Given the description of an element on the screen output the (x, y) to click on. 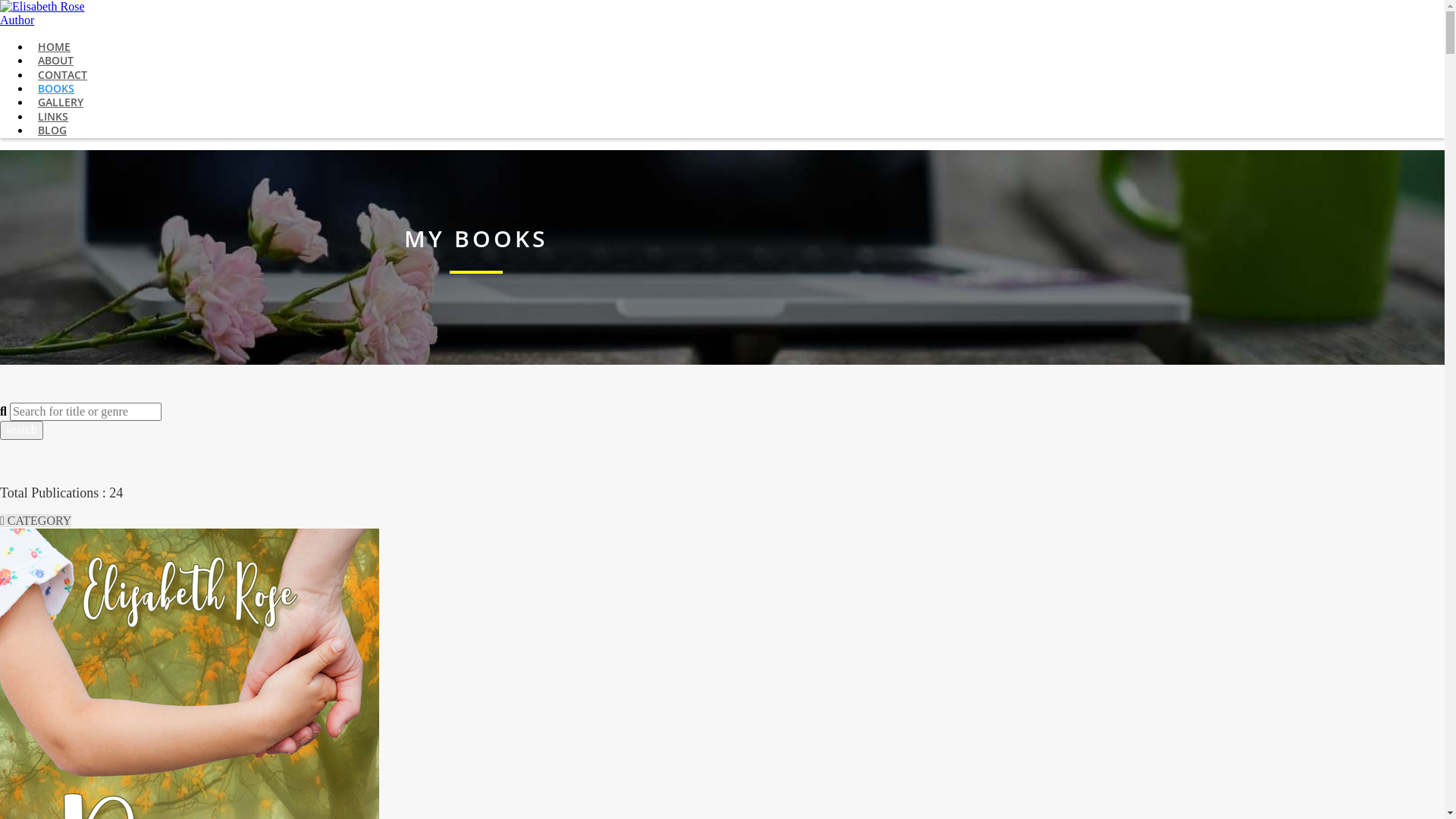
LINKS Element type: text (52, 116)
BOOKS Element type: text (55, 88)
GALLERY Element type: text (60, 101)
BLOG Element type: text (52, 130)
CATEGORY Element type: text (35, 520)
ABOUT Element type: text (55, 60)
search Element type: text (21, 429)
HOME Element type: text (54, 46)
CONTACT Element type: text (62, 74)
